Given the description of an element on the screen output the (x, y) to click on. 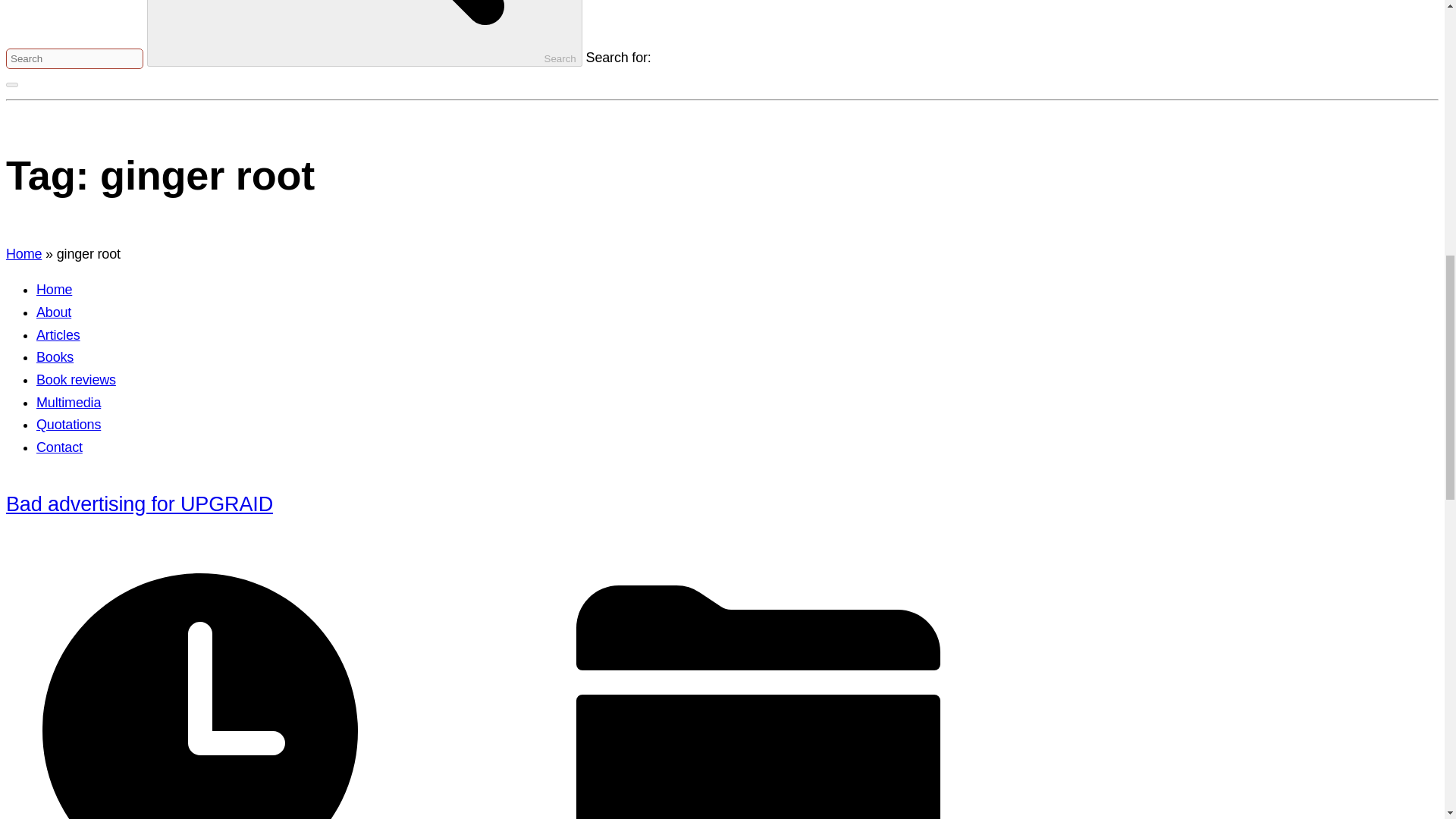
Bad advertising for UPGRAID (139, 504)
Home (53, 289)
Multimedia (68, 402)
Quotations (68, 424)
Home (23, 253)
Books (55, 356)
Contact (59, 447)
Search (364, 33)
Articles (58, 335)
About (53, 312)
